Given the description of an element on the screen output the (x, y) to click on. 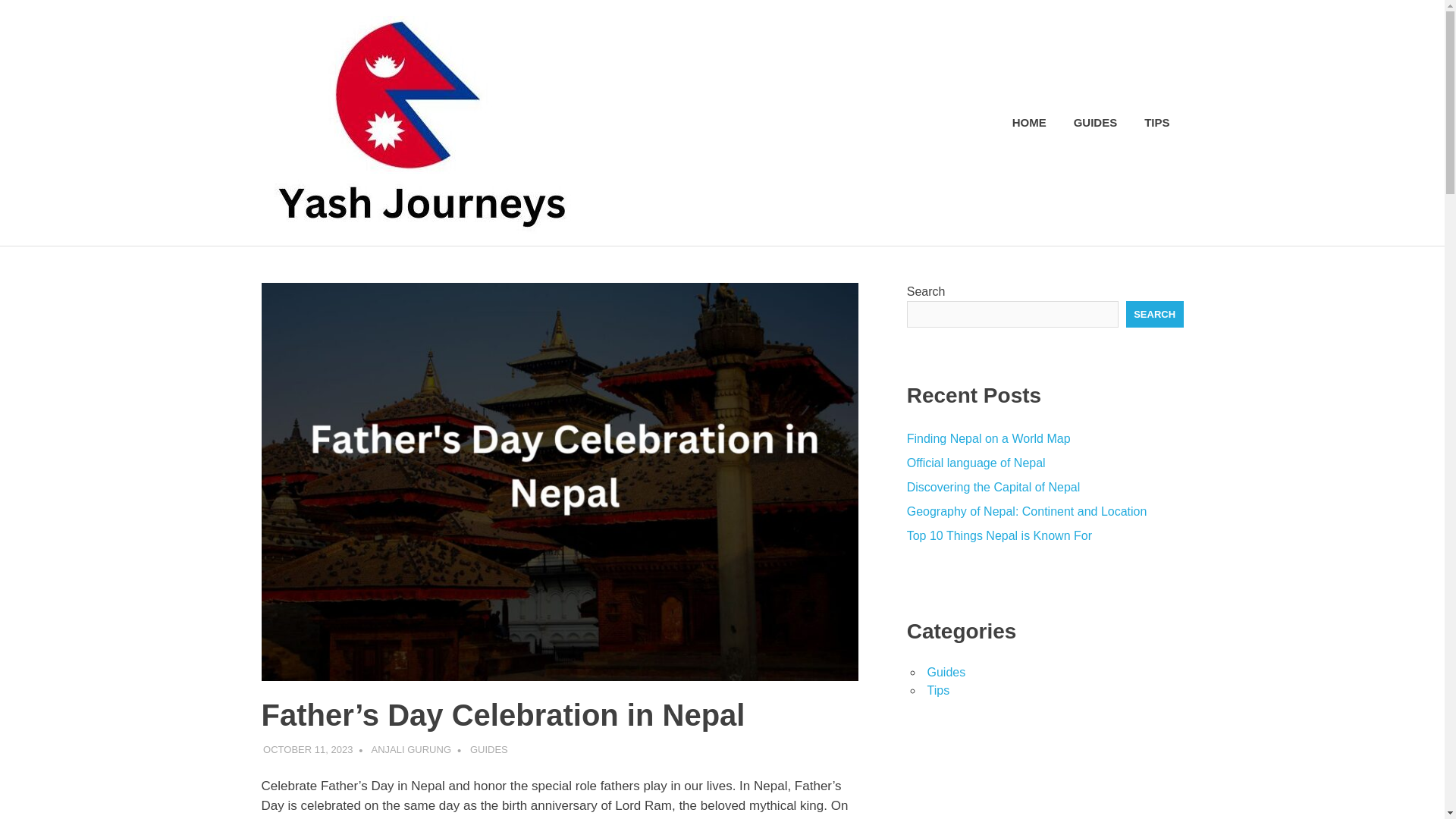
1:40 am (307, 749)
Top 10 Things Nepal is Known For (999, 535)
OCTOBER 11, 2023 (307, 749)
View all posts by Anjali Gurung (411, 749)
HOME (1028, 122)
Discovering the Capital of Nepal (993, 486)
SEARCH (1154, 314)
ANJALI GURUNG (411, 749)
GUIDES (489, 749)
Geography of Nepal: Continent and Location (1027, 511)
